Given the description of an element on the screen output the (x, y) to click on. 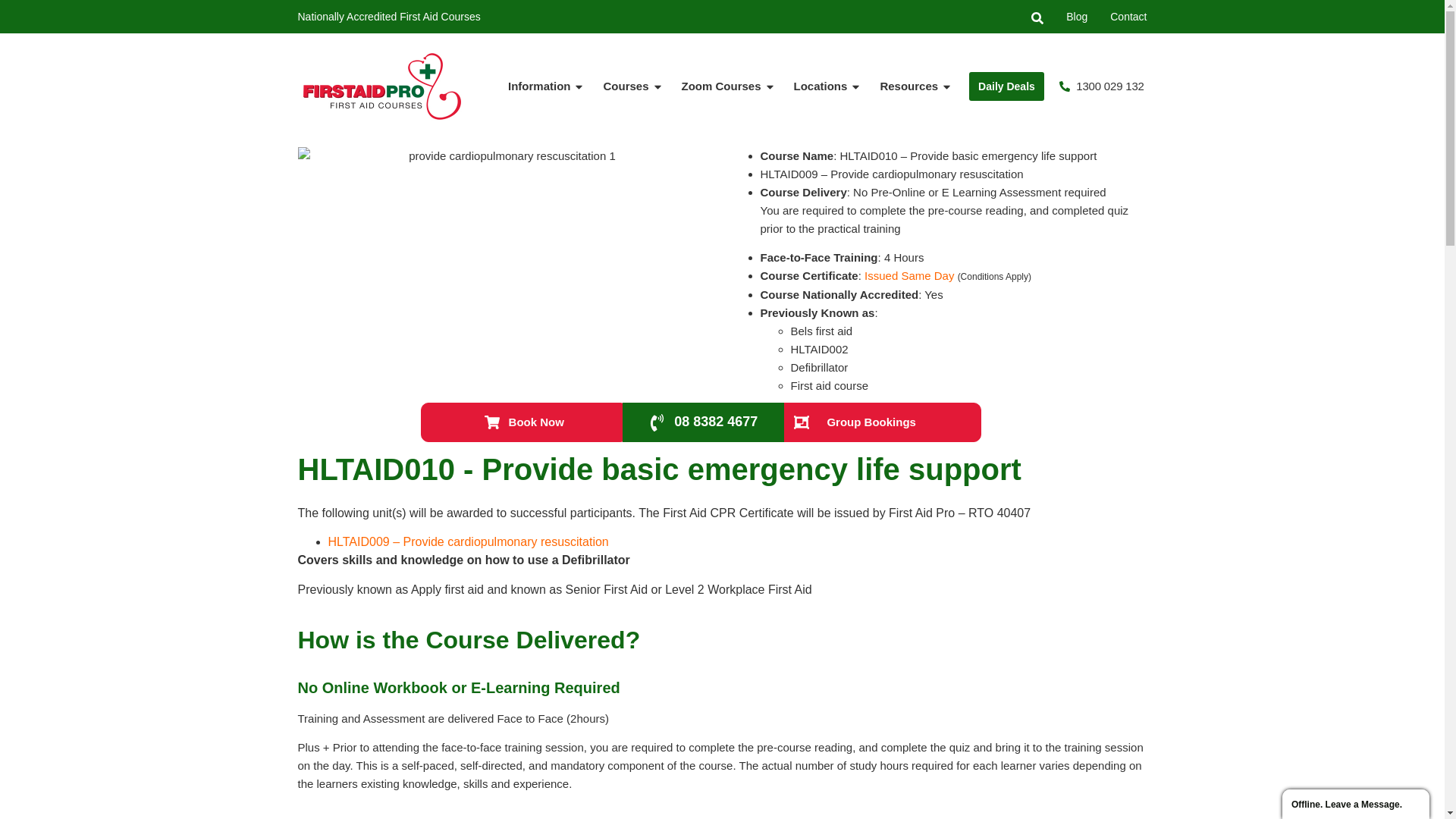
Issued Same Day Element type: text (908, 275)
Book Now Element type: text (524, 421)
Zoom Courses Element type: text (728, 86)
Group Bookings Element type: text (854, 422)
Contact Element type: text (1128, 16)
Daily Deals Element type: text (1006, 86)
Resources Element type: text (915, 86)
Information Element type: text (546, 86)
Blog Element type: text (1076, 16)
1300 029 132 Element type: text (1101, 86)
08 8382 4677 Element type: text (703, 421)
Courses Element type: text (632, 86)
Locations Element type: text (827, 86)
